Given the description of an element on the screen output the (x, y) to click on. 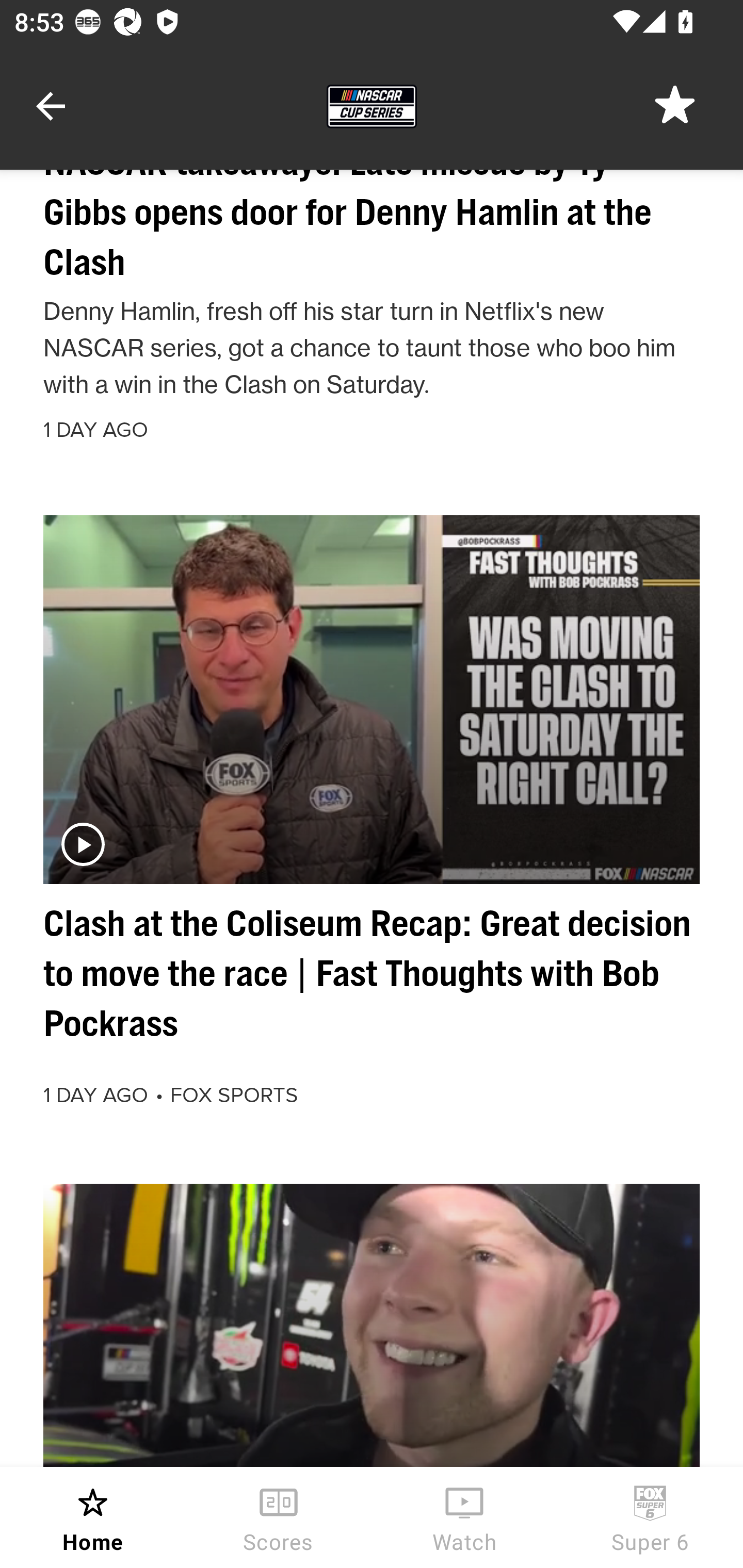
Navigate up (50, 106)
Scores (278, 1517)
Watch (464, 1517)
Super 6 (650, 1517)
